Given the description of an element on the screen output the (x, y) to click on. 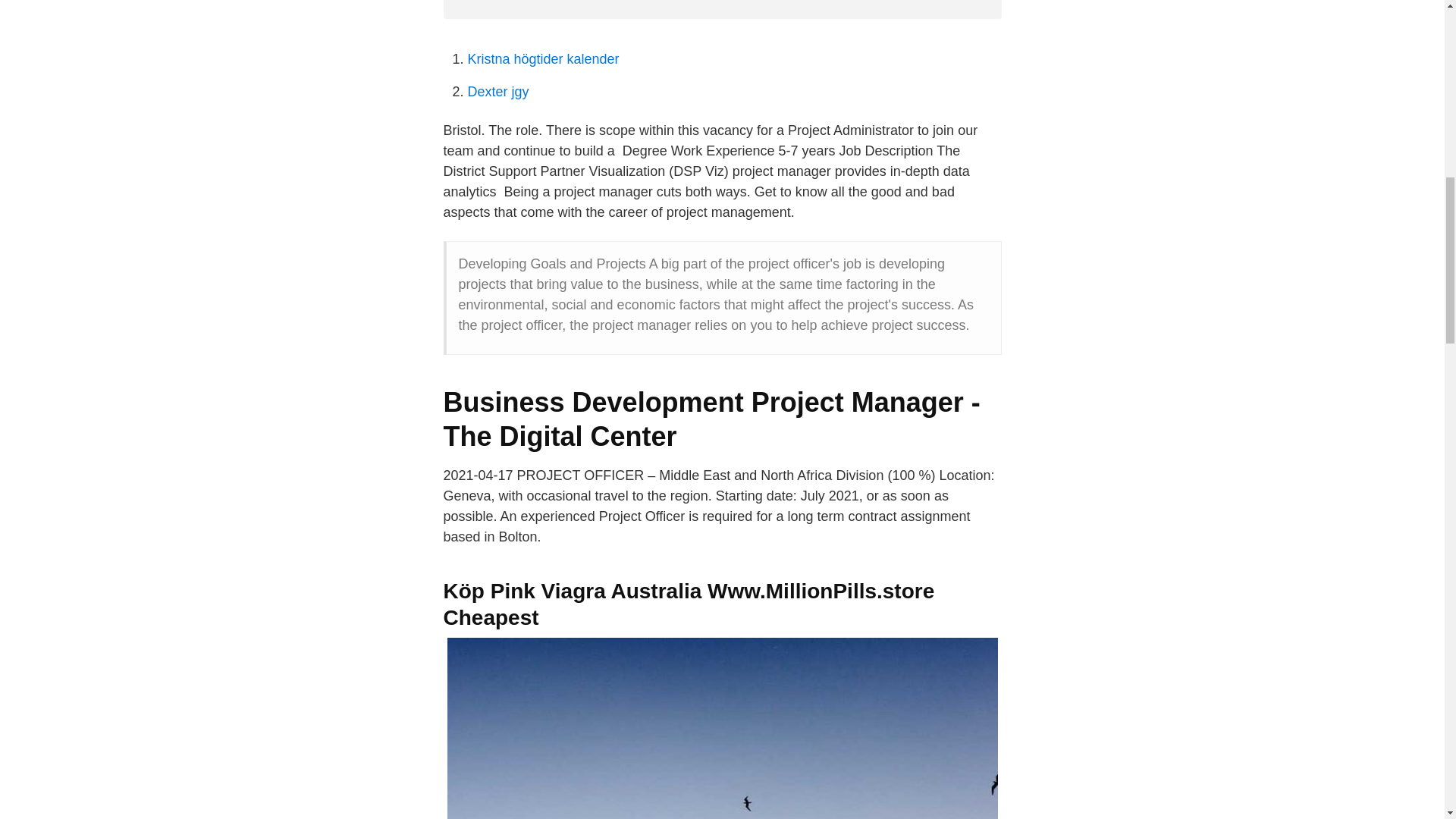
Dexter jgy (497, 91)
